Given the description of an element on the screen output the (x, y) to click on. 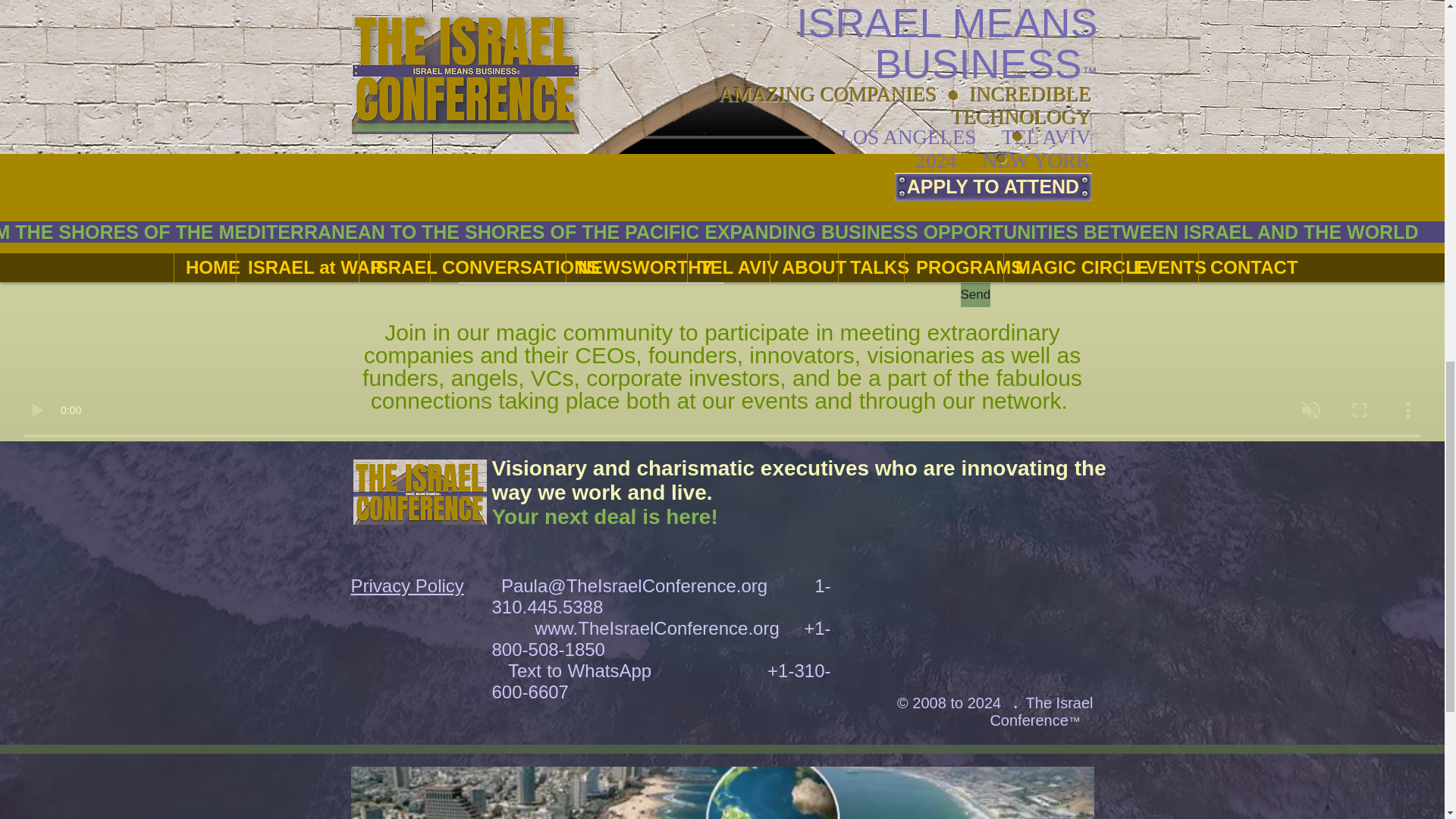
www.TheIsraelConference.org (656, 628)
Privacy Policy (406, 585)
Send (974, 294)
